Given the description of an element on the screen output the (x, y) to click on. 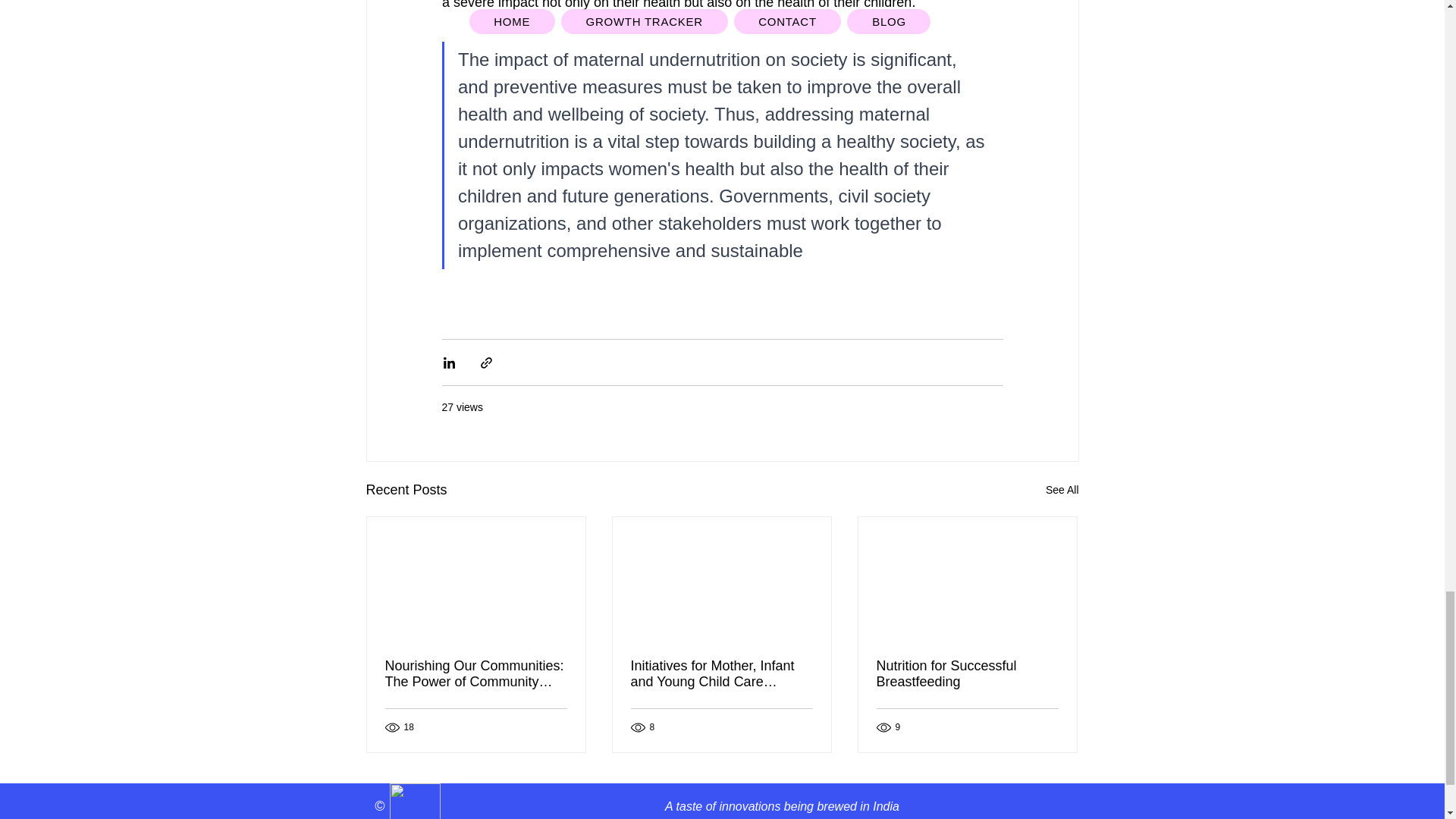
See All (1061, 490)
Nutrition for Successful Breastfeeding (967, 674)
Nourishing Our Communities: The Power of Community Nutrition (476, 674)
